Given the description of an element on the screen output the (x, y) to click on. 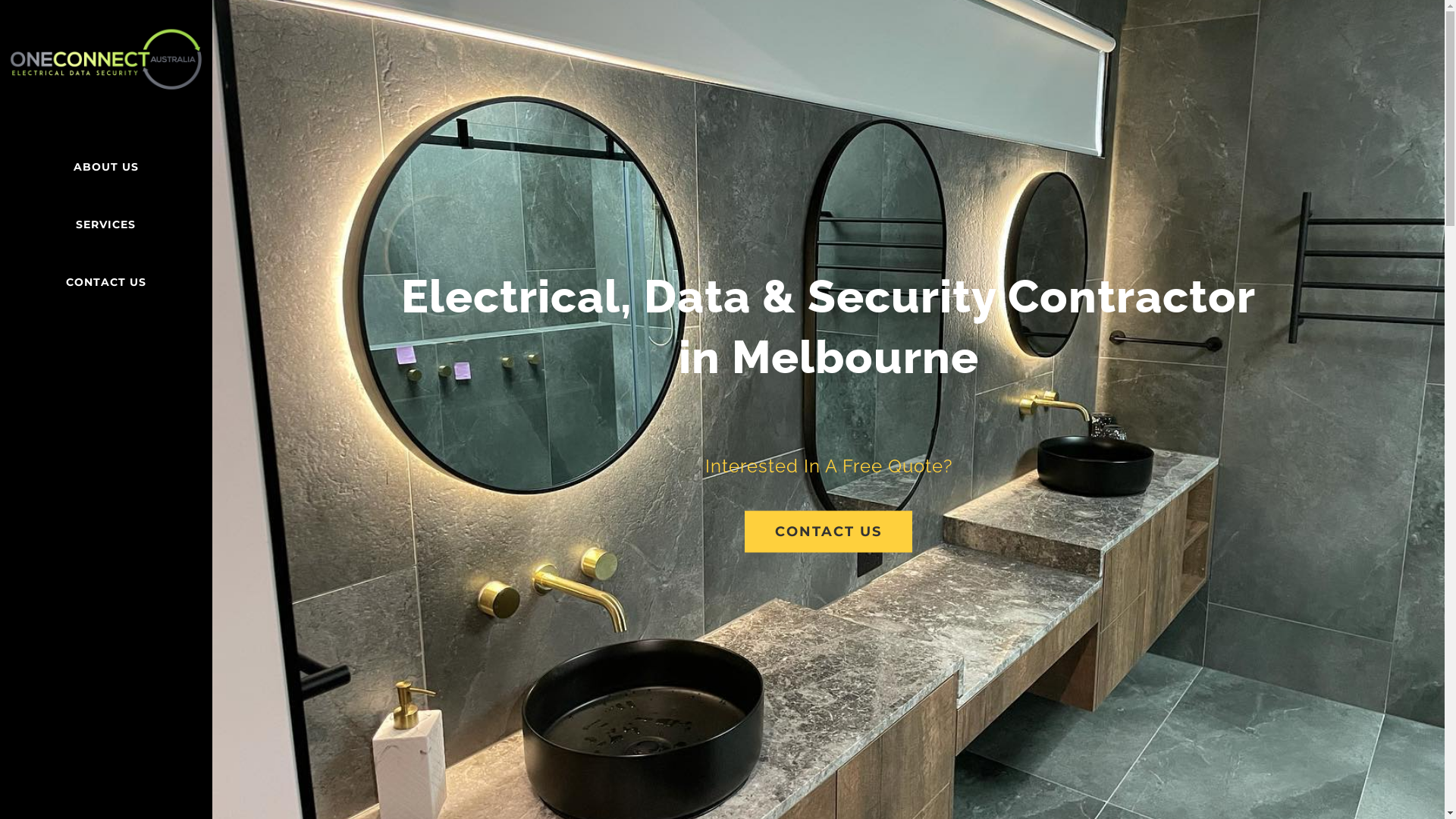
CONTACT US Element type: text (828, 531)
ABOUT US Element type: text (105, 167)
SERVICES Element type: text (105, 225)
CONTACT US Element type: text (105, 282)
